Given the description of an element on the screen output the (x, y) to click on. 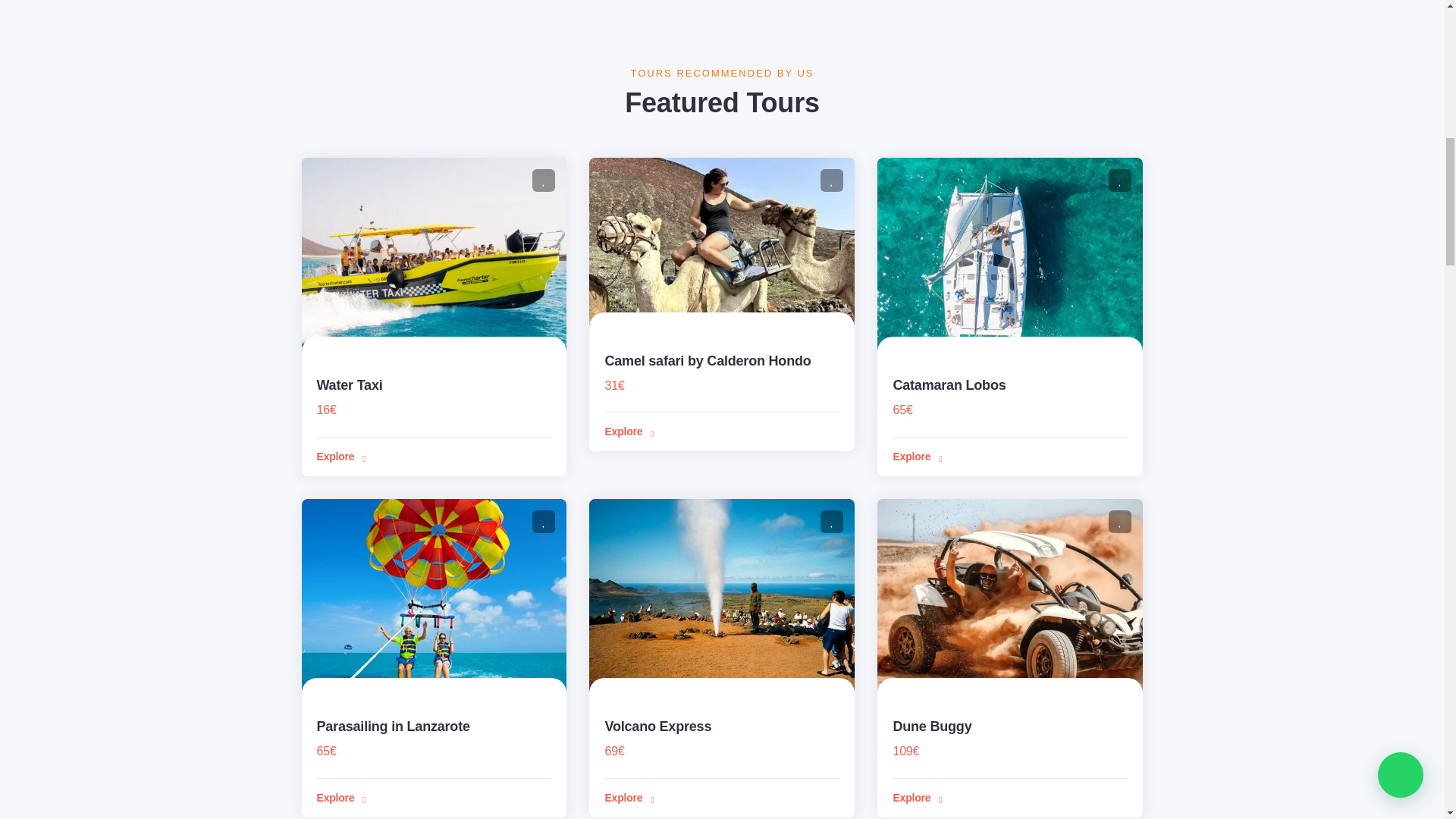
Wishlist (832, 179)
Wishlist (543, 521)
Wishlist (1119, 179)
Wishlist (543, 179)
